Given the description of an element on the screen output the (x, y) to click on. 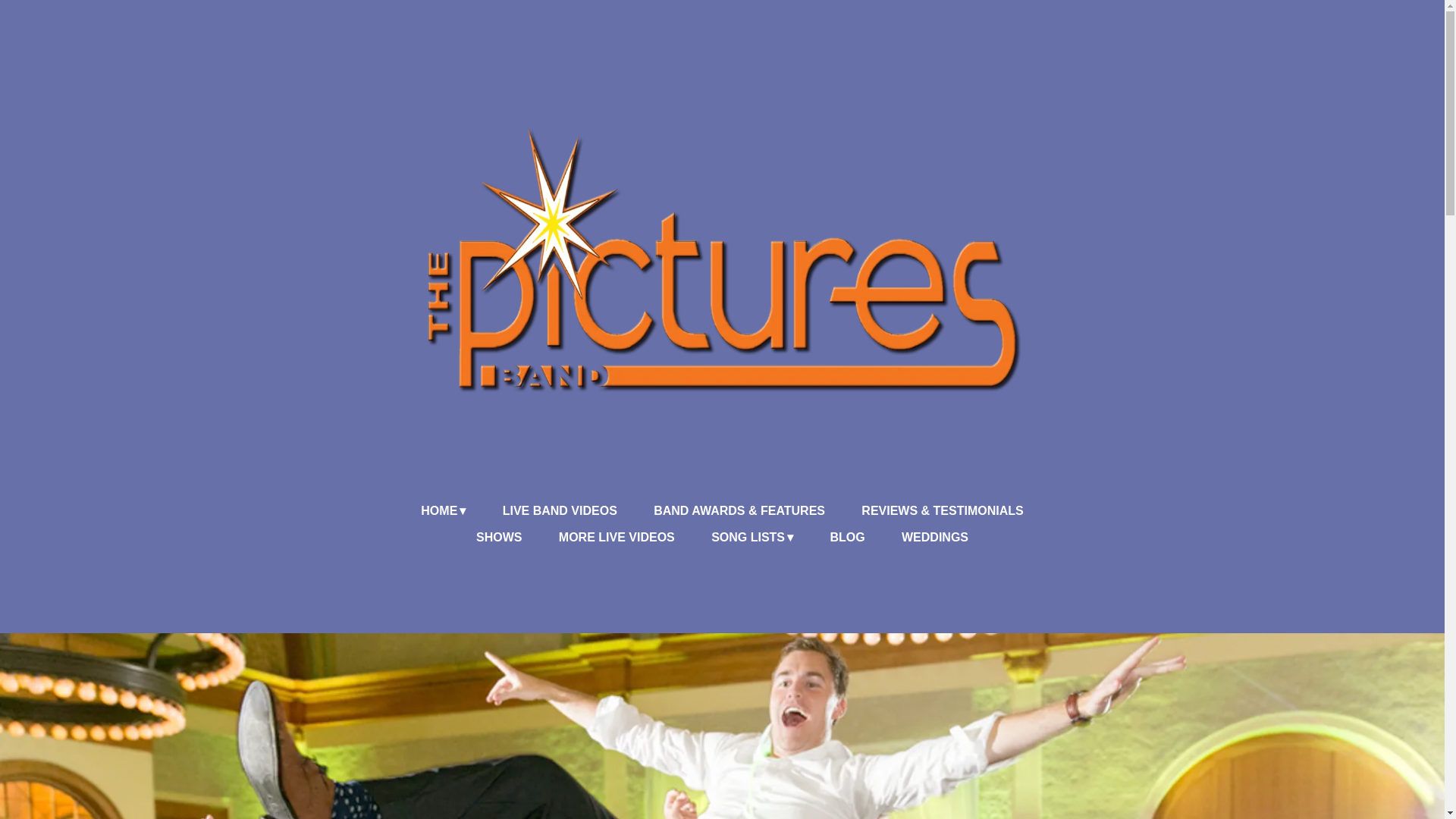
SHOWS (498, 537)
HOME (442, 511)
WEDDINGS (934, 537)
BLOG (846, 537)
MORE LIVE VIDEOS (617, 537)
LIVE BAND VIDEOS (559, 511)
SONG LISTS (752, 537)
